Given the description of an element on the screen output the (x, y) to click on. 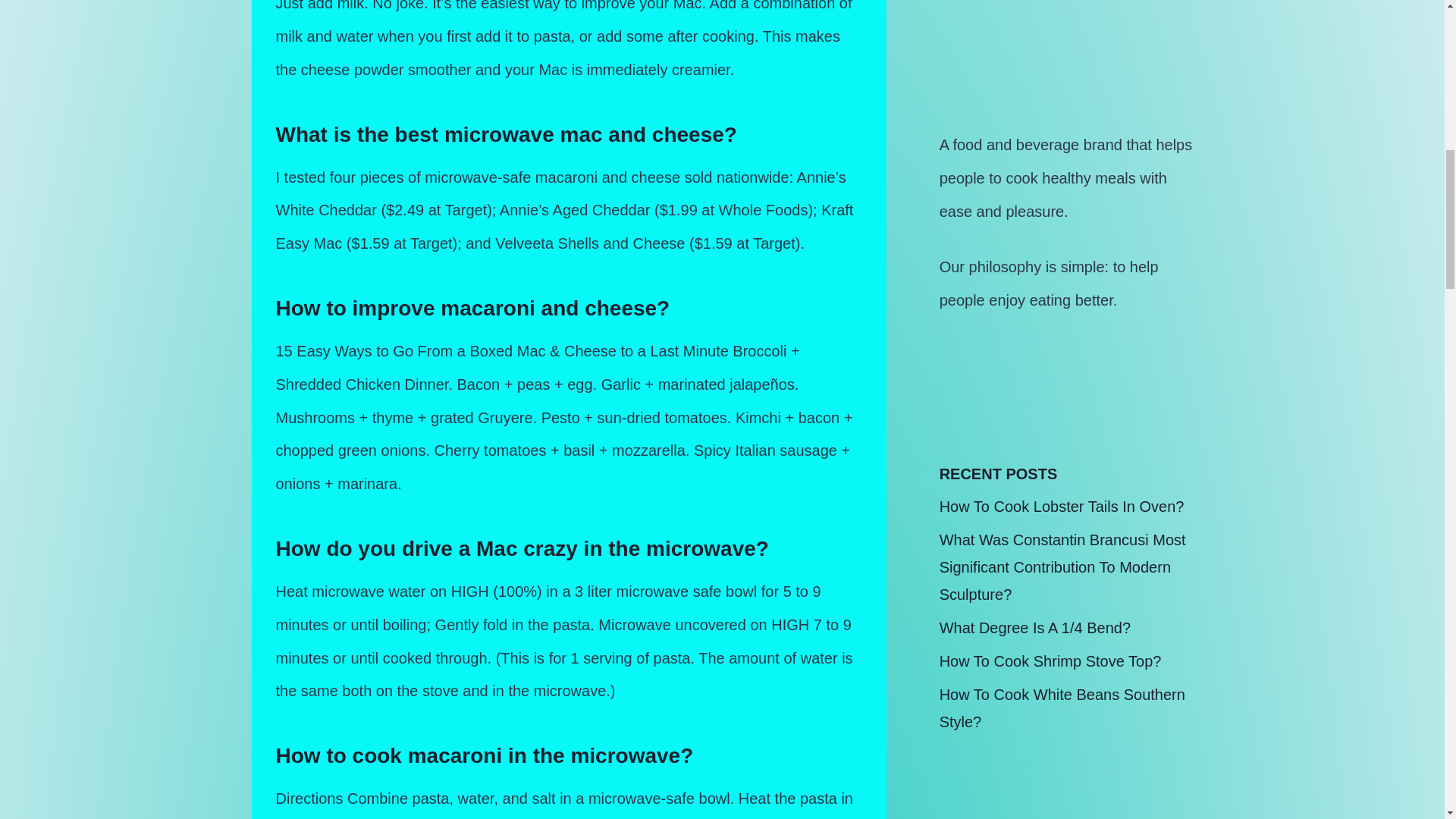
How To Cook Shrimp Stove Top? (1050, 660)
How To Cook Lobster Tails In Oven? (1062, 506)
How To Cook White Beans Southern Style? (1062, 708)
